Given the description of an element on the screen output the (x, y) to click on. 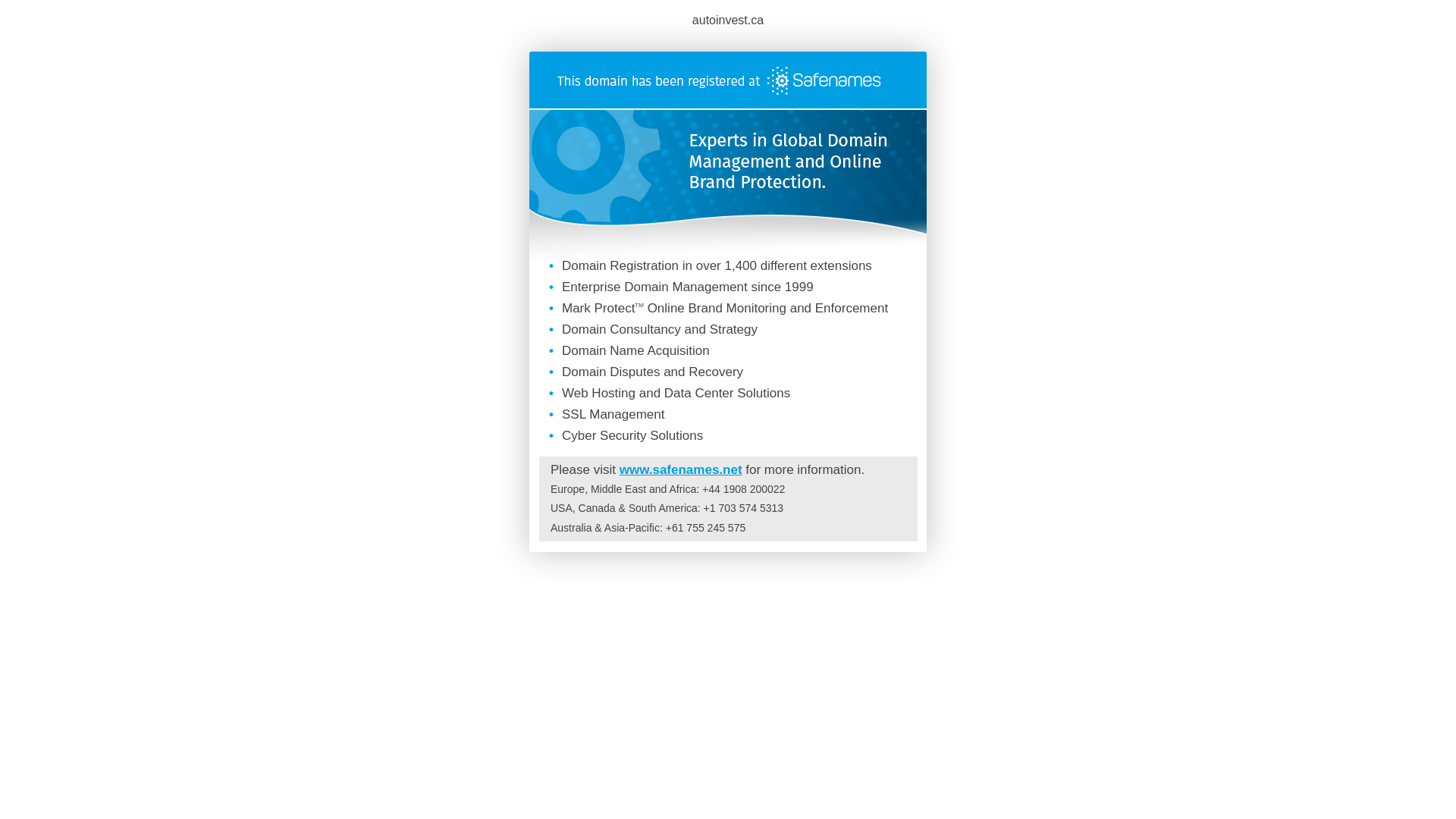
www.safenames.net Element type: text (680, 469)
